Given the description of an element on the screen output the (x, y) to click on. 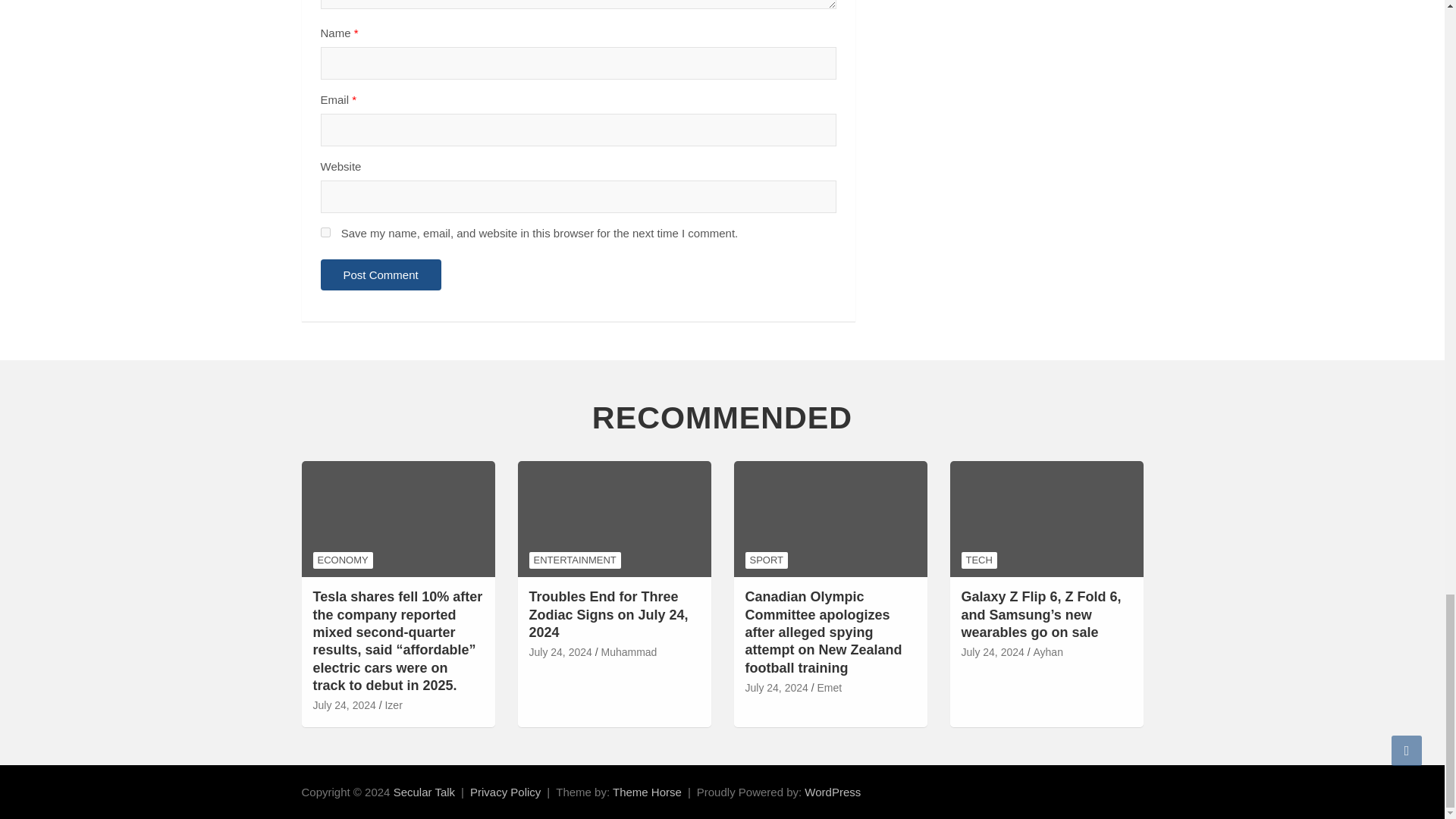
Post Comment (380, 274)
yes (325, 232)
Troubles End for Three Zodiac Signs on July 24, 2024 (560, 652)
Theme Horse (646, 791)
WordPress (832, 791)
Post Comment (380, 274)
Secular Talk (423, 791)
